Given the description of an element on the screen output the (x, y) to click on. 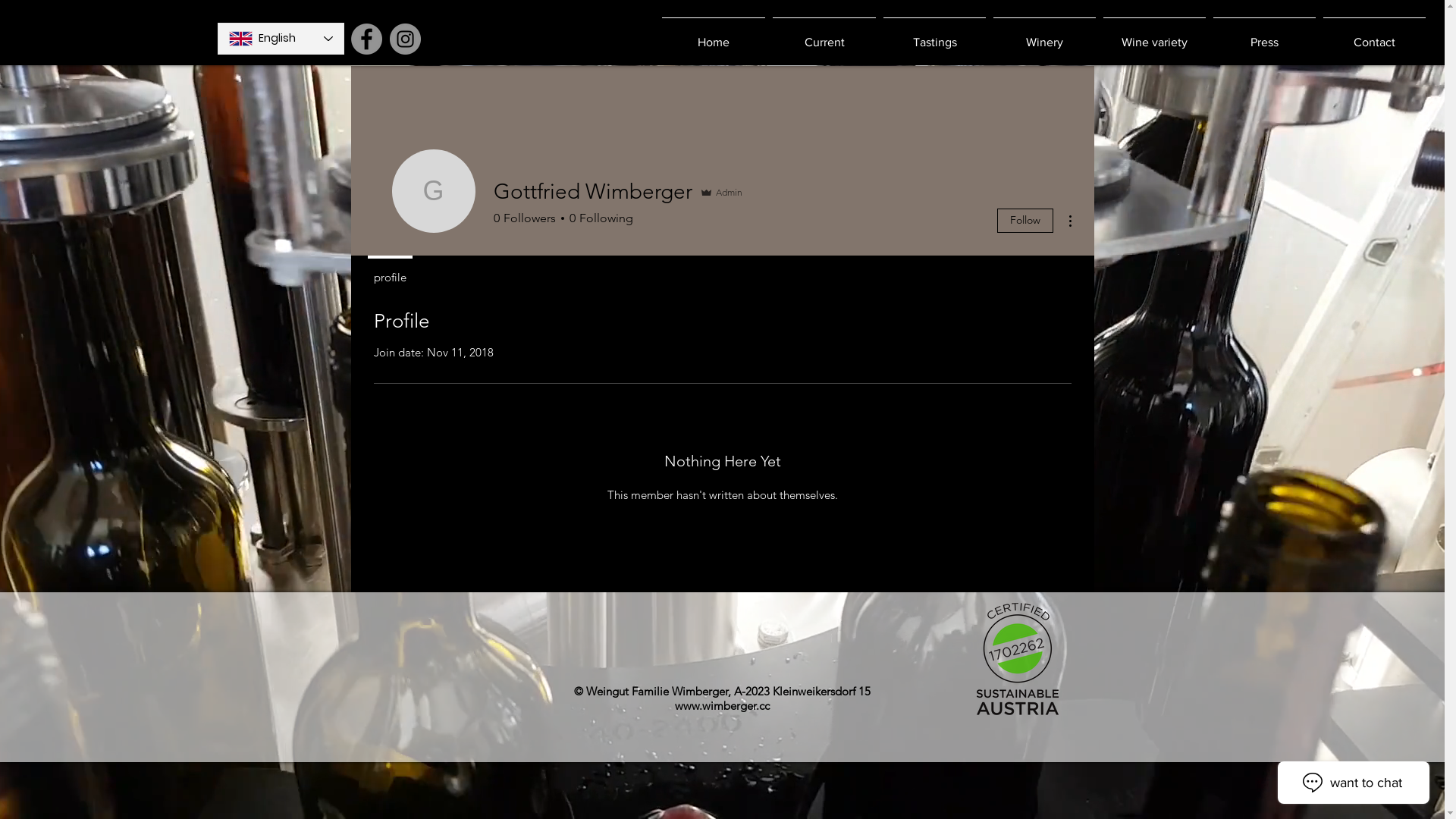
Follow Element type: text (1024, 220)
www.wimberger.cc Element type: text (721, 705)
profile Element type: text (389, 270)
Tastings Element type: text (934, 35)
0
Following Element type: text (598, 218)
Home Element type: text (713, 35)
0
Followers Element type: text (523, 218)
